Given the description of an element on the screen output the (x, y) to click on. 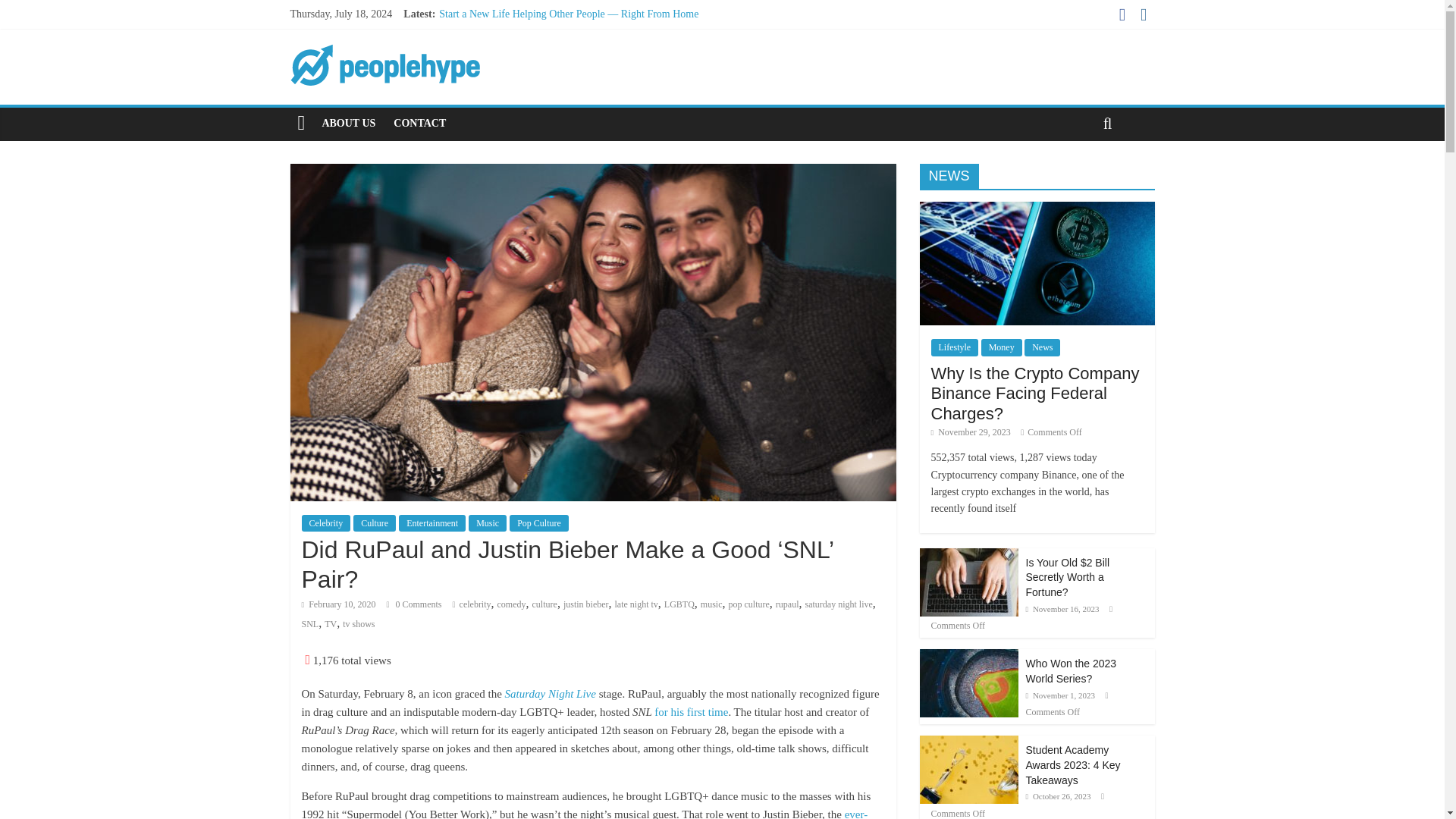
tv shows (358, 624)
Culture (374, 523)
culture (544, 603)
saturday night live (838, 603)
music (711, 603)
ever-controversial (584, 813)
rupaul (787, 603)
PeopleHype (301, 123)
SNL (309, 624)
LGBTQ (678, 603)
Saturday Night Live (550, 693)
justin bieber (585, 603)
Why Is the Crypto Company Binance Facing Federal Charges? (1036, 209)
Music (487, 523)
pop culture (749, 603)
